Given the description of an element on the screen output the (x, y) to click on. 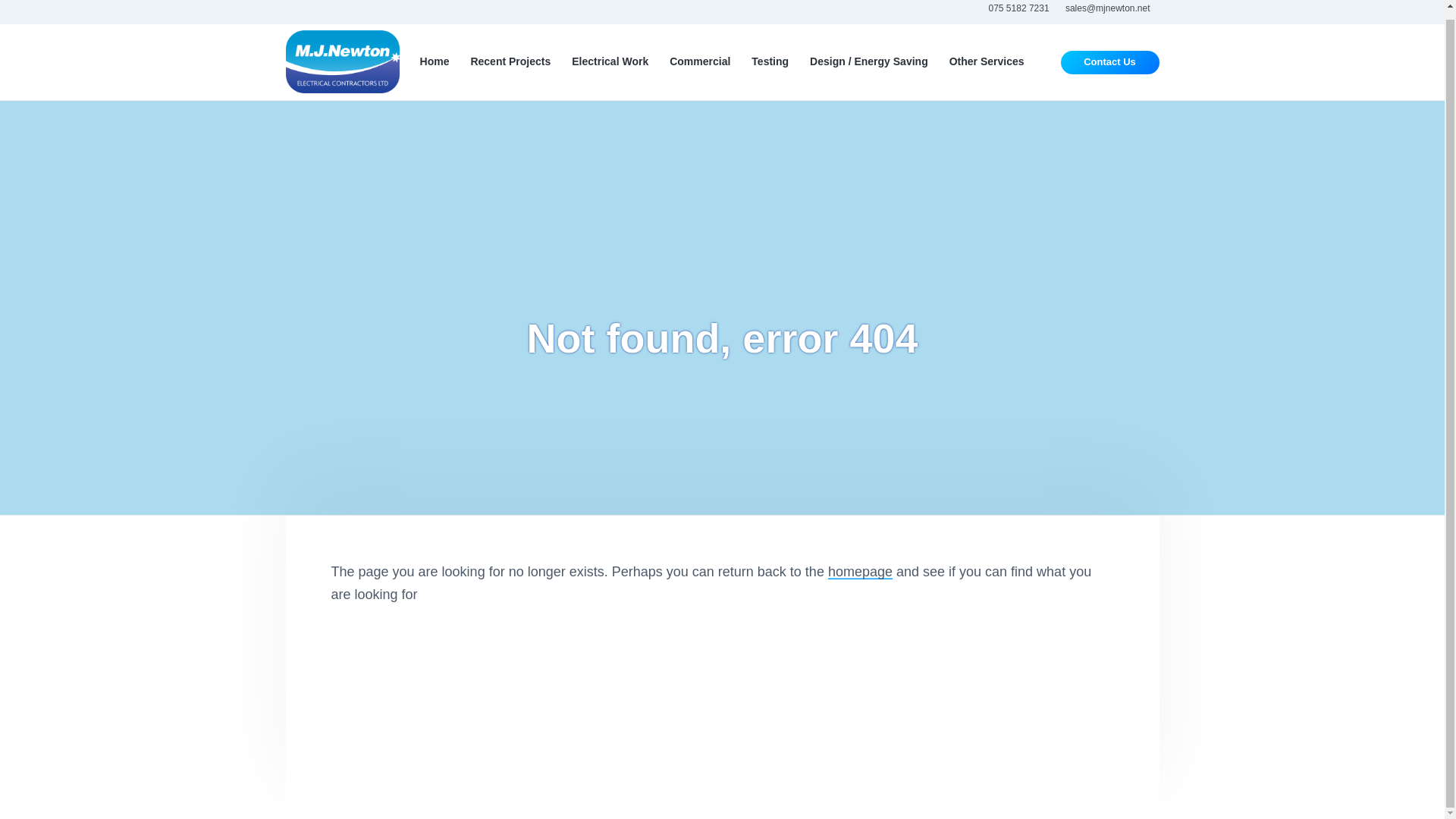
Recent Projects (510, 61)
homepage (860, 571)
Contact Us (1109, 62)
Testing (770, 61)
Other Services (987, 61)
Commercial (699, 61)
Home (434, 61)
Electrical Work (609, 61)
